Given the description of an element on the screen output the (x, y) to click on. 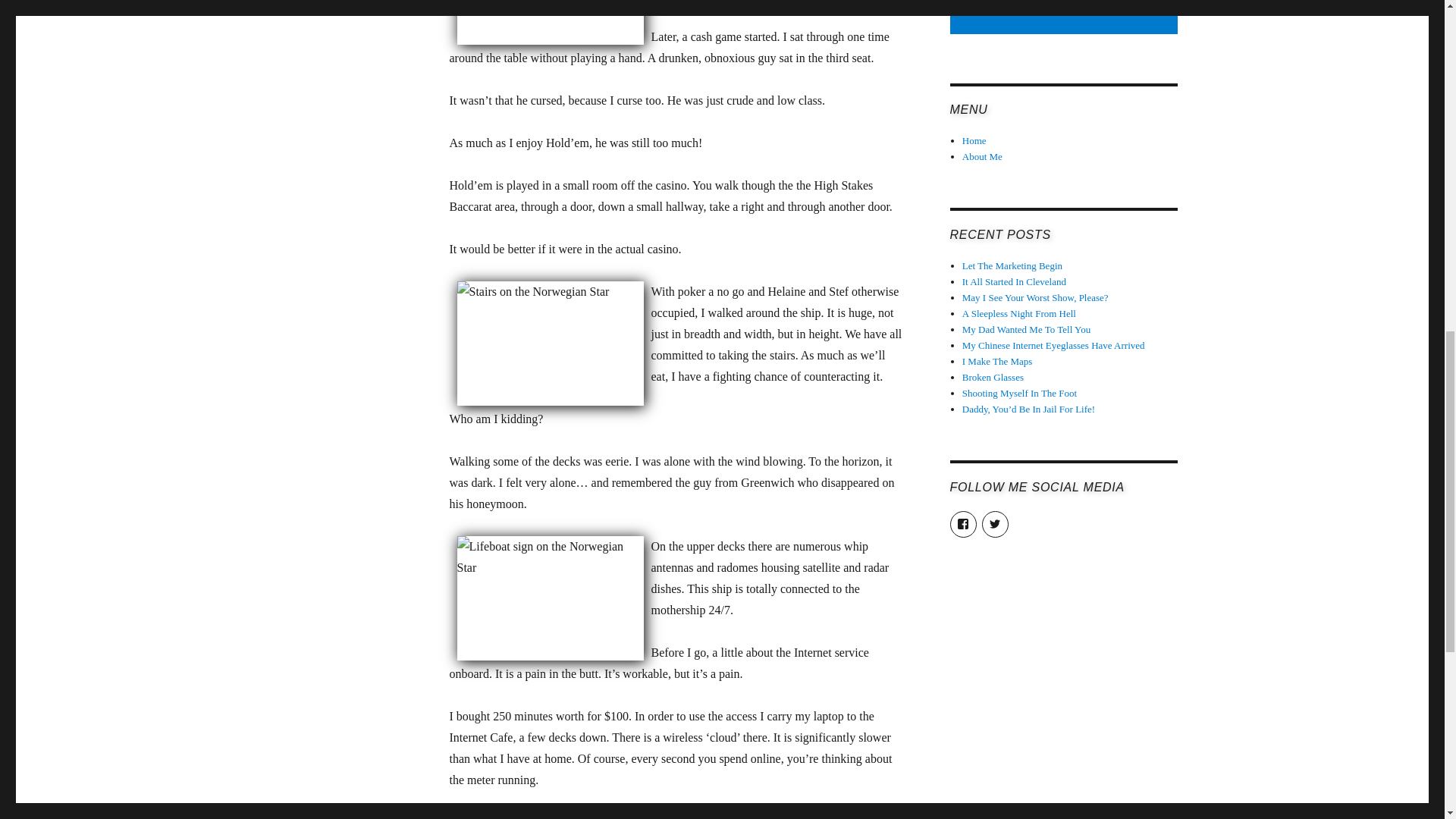
Advertisement (1065, 18)
May I See Your Worst Show, Please? (1035, 297)
Let The Marketing Begin (1012, 265)
My Dad Wanted Me To Tell You (1026, 328)
A Sleepless Night From Hell (1018, 313)
About Me (982, 156)
Home (974, 140)
It All Started In Cleveland (1013, 281)
My Chinese Internet Eyeglasses Have Arrived (1053, 345)
Broken Glasses (992, 377)
Shooting Myself In The Foot (1019, 392)
I Make The Maps (997, 360)
